Given the description of an element on the screen output the (x, y) to click on. 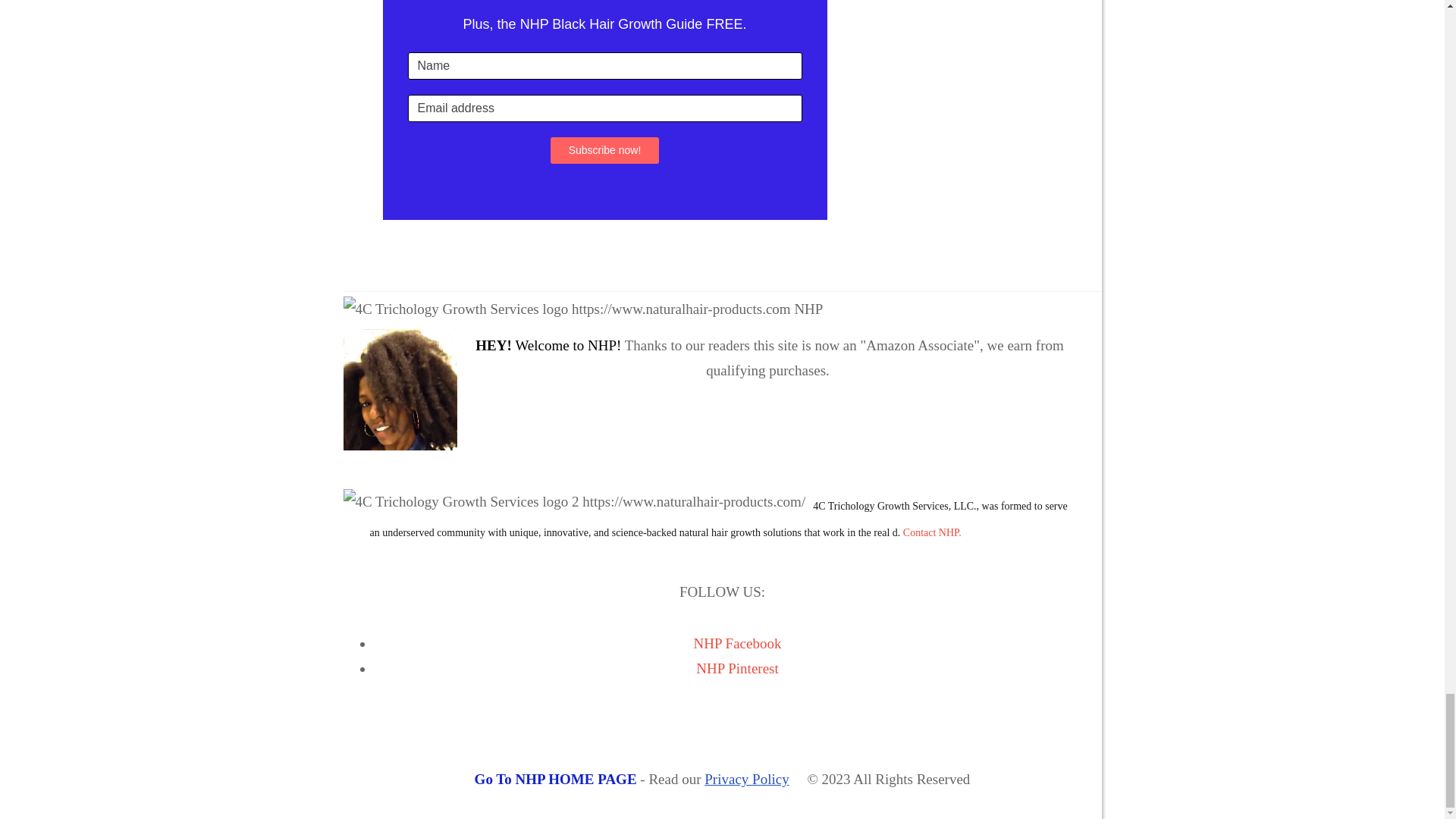
Subscribe now! (604, 150)
Contact NHP. (931, 532)
Email address (604, 108)
Go To NHP HOME PAGE (555, 779)
Privacy Policy (746, 779)
NHP Facebook (737, 643)
Name (604, 65)
Subscribe now! (604, 150)
NHP Pinterest (736, 668)
